Given the description of an element on the screen output the (x, y) to click on. 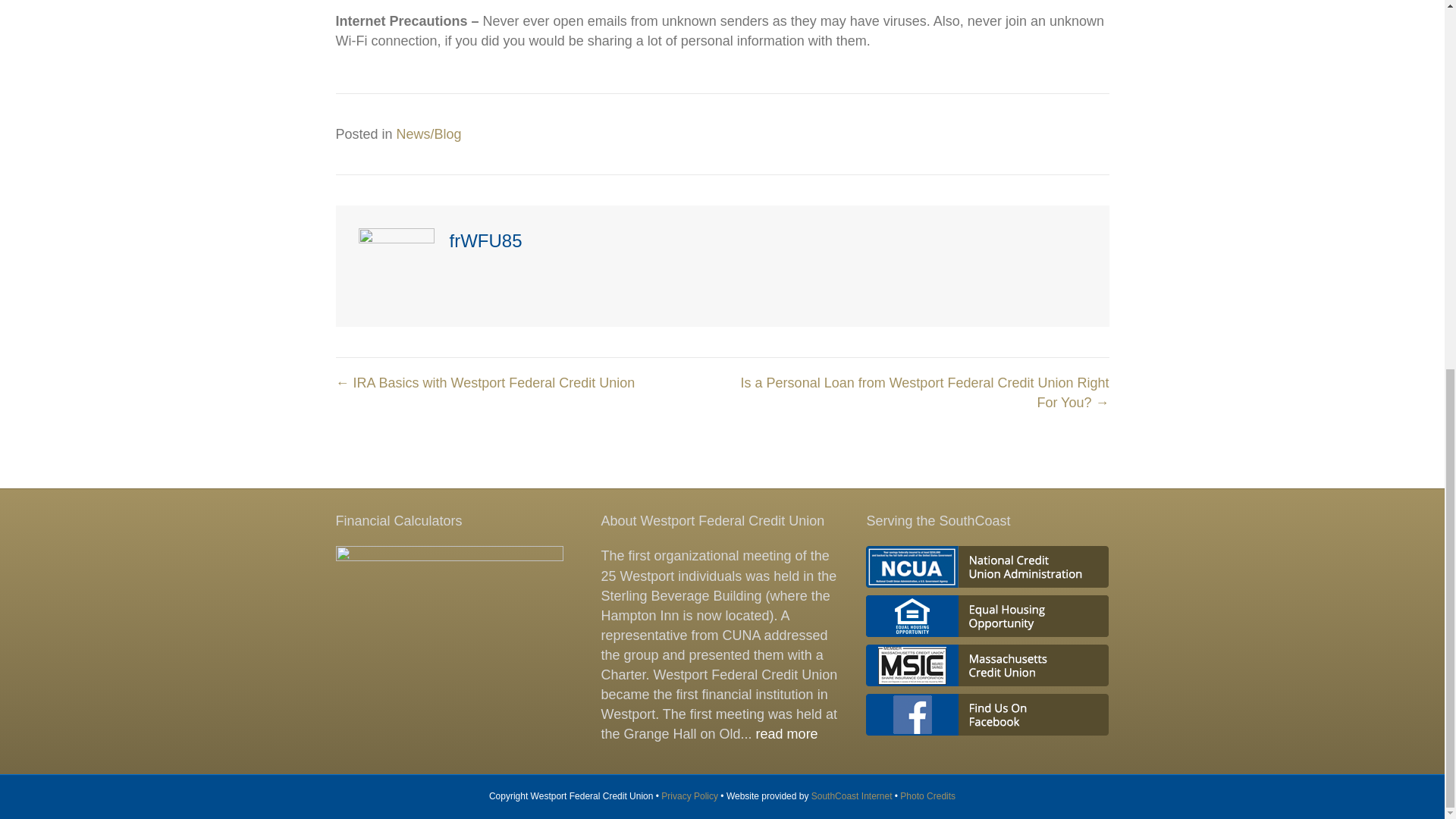
read more (786, 734)
